Given the description of an element on the screen output the (x, y) to click on. 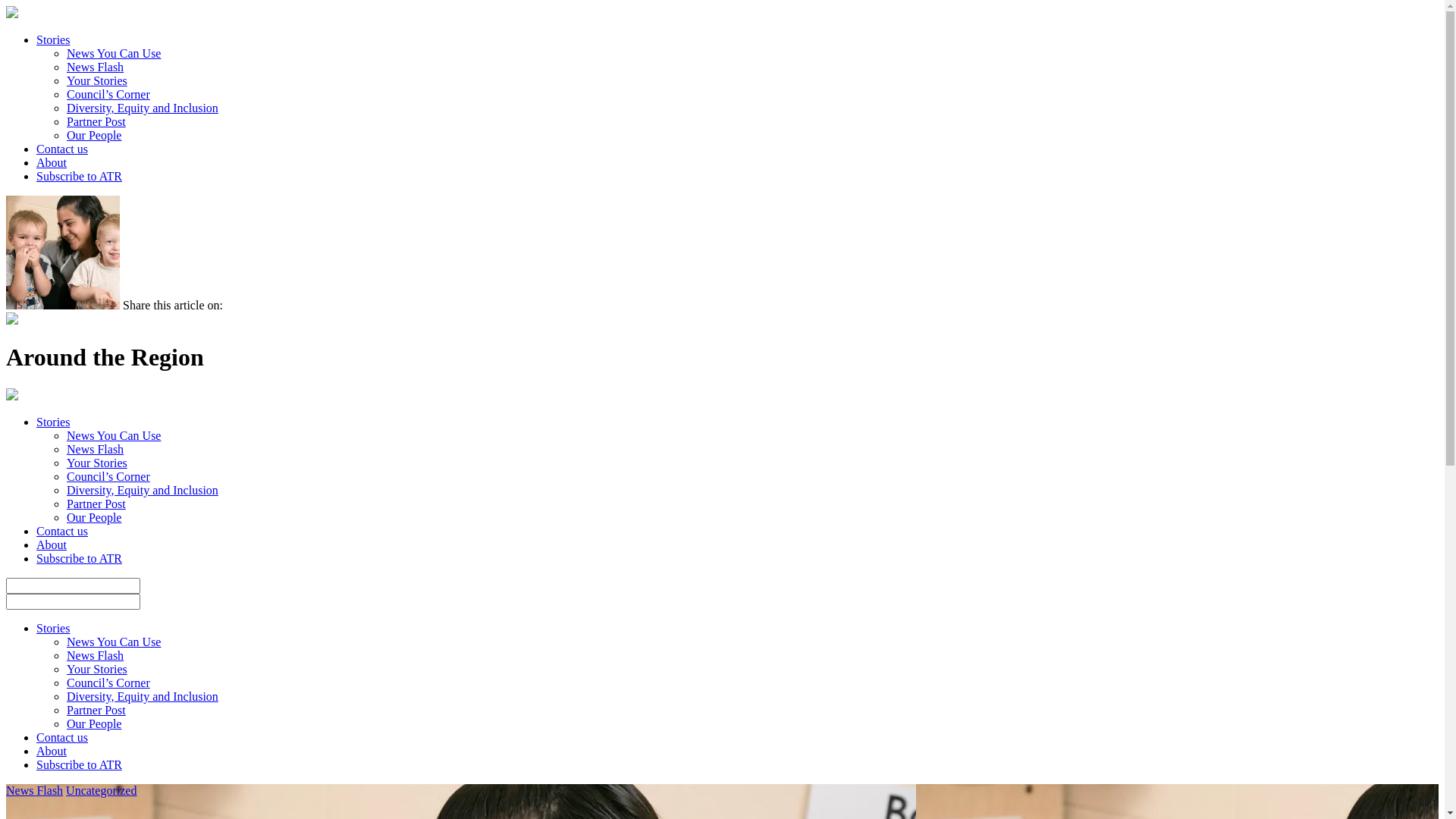
Stories Element type: text (52, 39)
Diversity, Equity and Inclusion Element type: text (142, 489)
Diversity, Equity and Inclusion Element type: text (142, 696)
News Flash Element type: text (94, 448)
Diversity, Equity and Inclusion Element type: text (142, 107)
Partner Post Element type: text (95, 709)
About Element type: text (51, 544)
Partner Post Element type: text (95, 503)
Subscribe to ATR Element type: text (79, 175)
Contact us Element type: text (61, 148)
About Element type: text (51, 162)
Stories Element type: text (52, 421)
Stories Element type: text (52, 627)
News You Can Use Element type: text (113, 53)
About Element type: text (51, 750)
Your Stories Element type: text (96, 462)
Uncategorized Element type: text (100, 790)
Your Stories Element type: text (96, 80)
Contact us Element type: text (61, 530)
Our People Element type: text (93, 517)
Subscribe to ATR Element type: text (79, 764)
News You Can Use Element type: text (113, 435)
News Flash Element type: text (94, 66)
Our People Element type: text (93, 723)
News Flash Element type: text (94, 655)
News Flash Element type: text (34, 790)
Contact us Element type: text (61, 737)
Our People Element type: text (93, 134)
Subscribe to ATR Element type: text (79, 558)
Partner Post Element type: text (95, 121)
Your Stories Element type: text (96, 668)
News You Can Use Element type: text (113, 641)
